Given the description of an element on the screen output the (x, y) to click on. 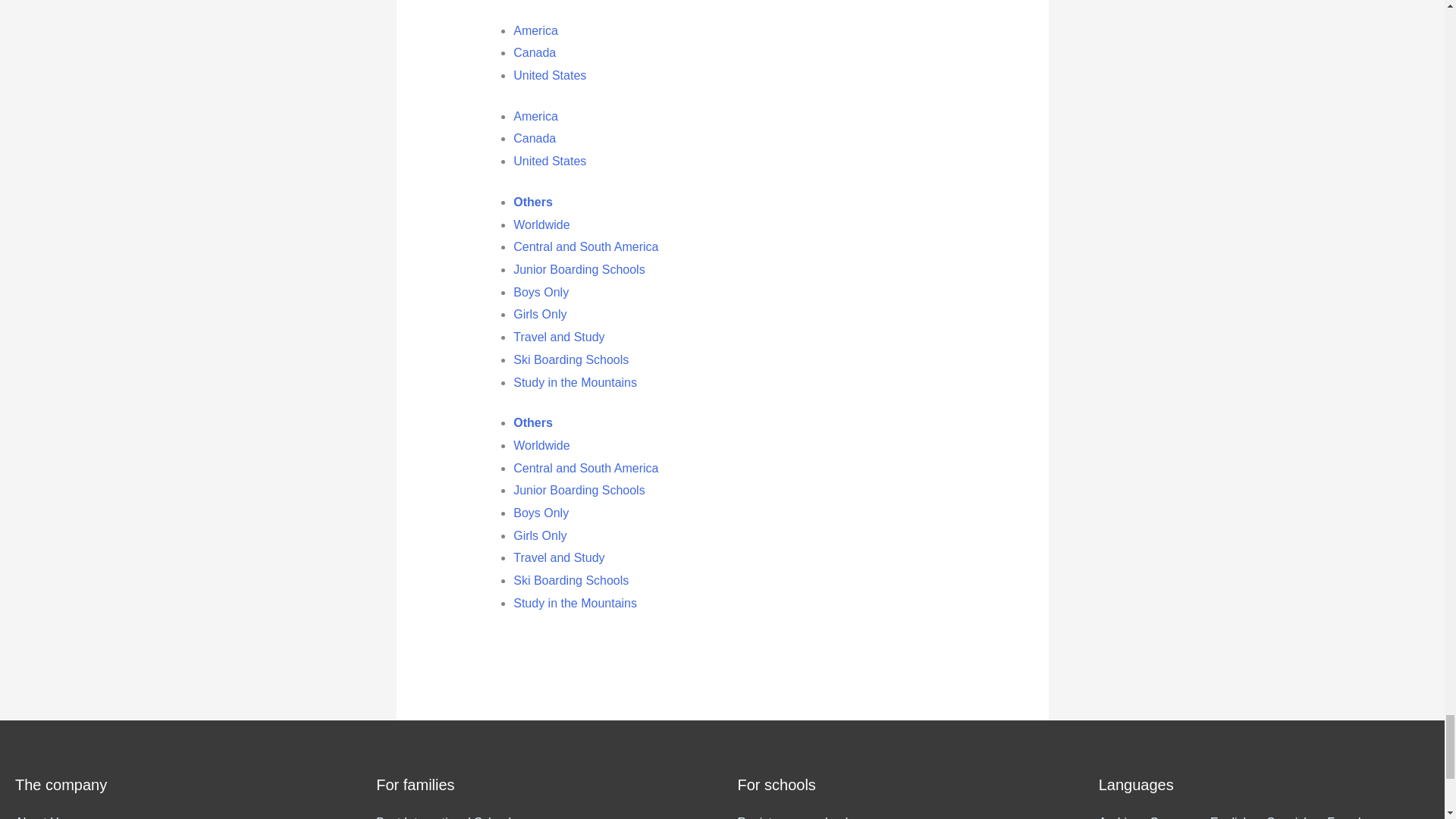
Arabic (1124, 815)
German (1179, 815)
English (1237, 815)
